Given the description of an element on the screen output the (x, y) to click on. 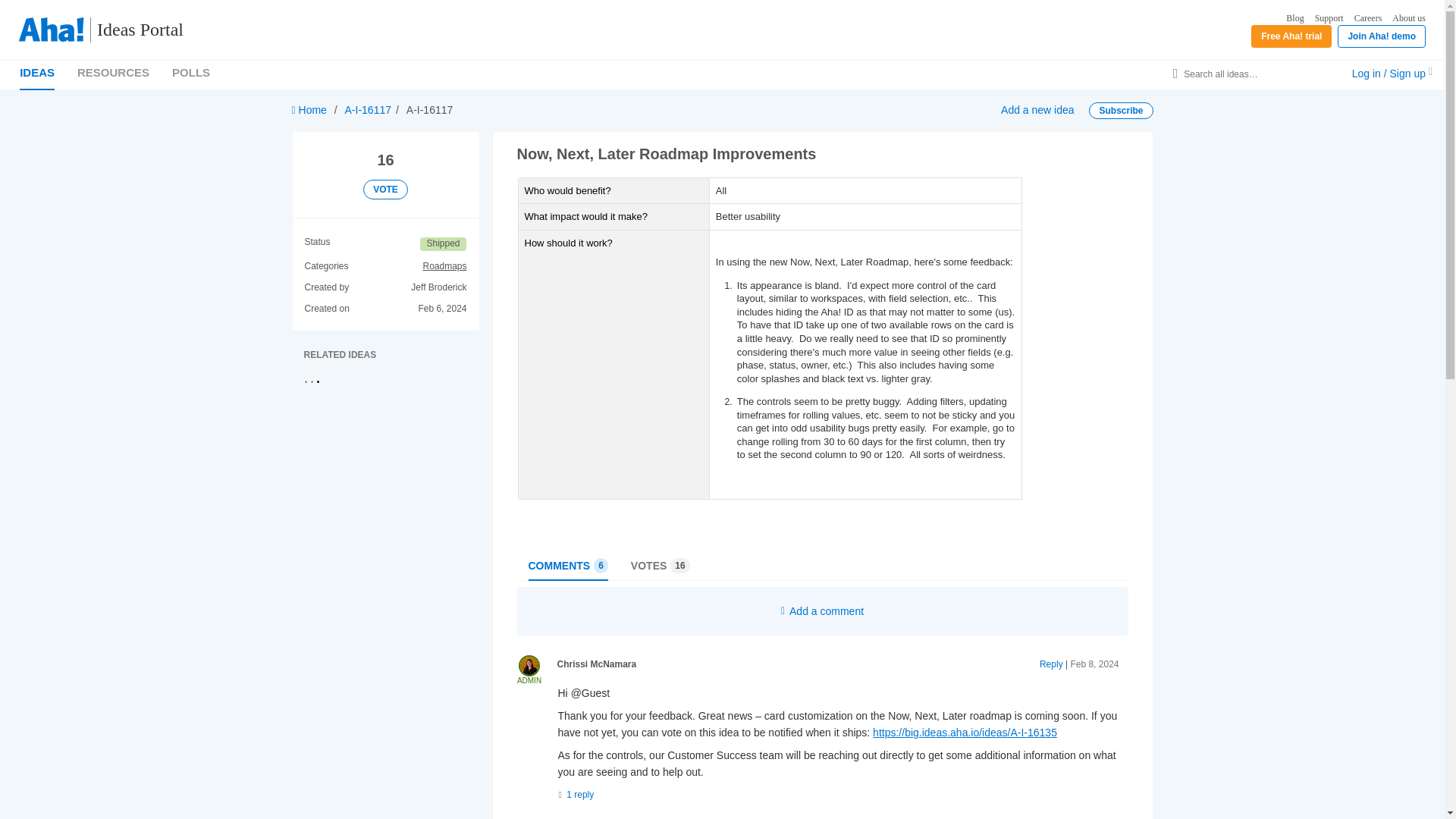
IDEAS (37, 72)
Home (310, 110)
Blog (1294, 18)
Support (1328, 18)
VOTE (385, 189)
Join Aha! demo (1381, 36)
Roadmaps (443, 266)
1 reply (575, 793)
Careers (660, 565)
